Given the description of an element on the screen output the (x, y) to click on. 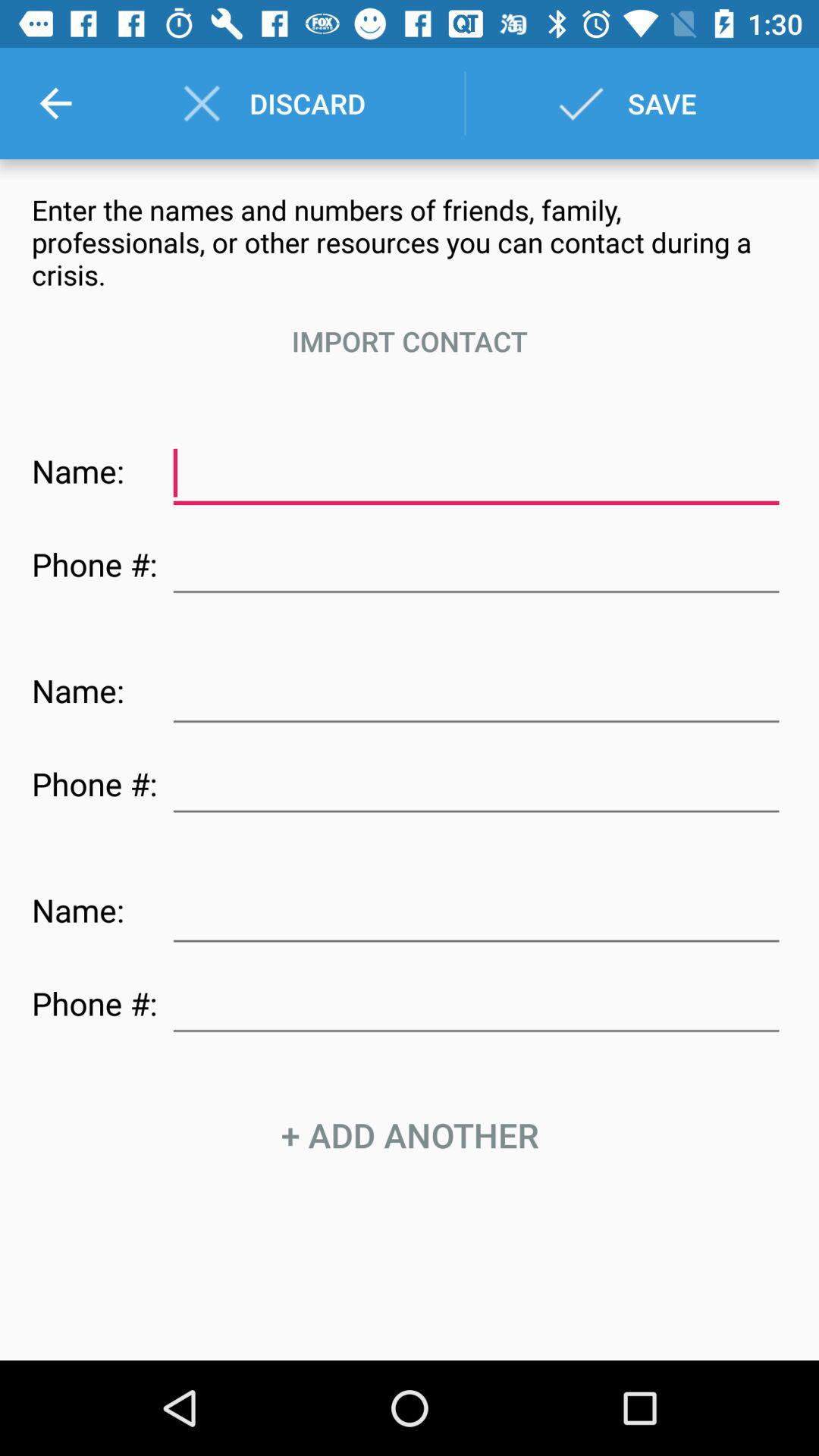
flip to the + add another icon (409, 1135)
